Given the description of an element on the screen output the (x, y) to click on. 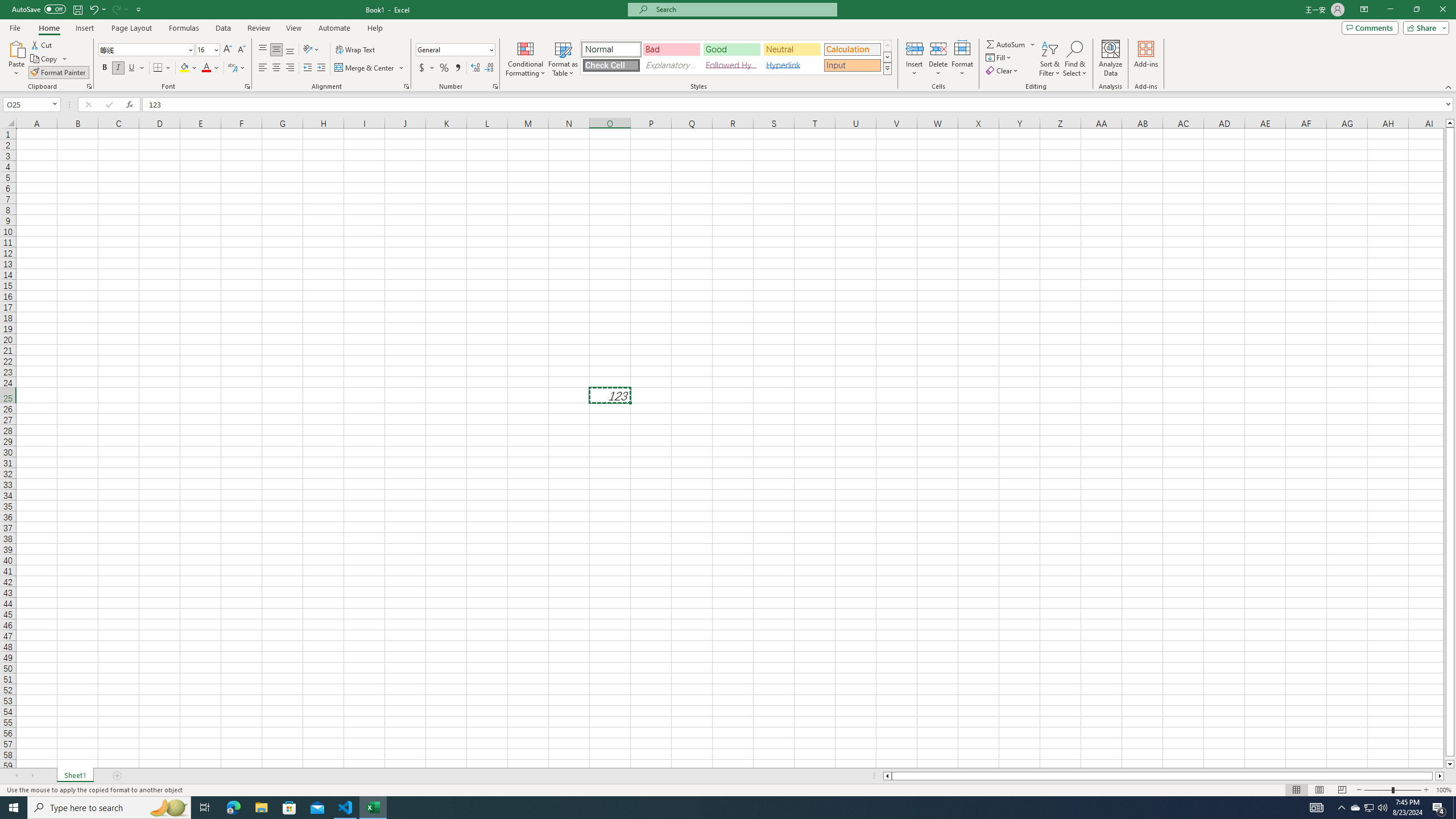
Increase Indent (320, 67)
Scroll Left (16, 775)
Show Phonetic Field (231, 67)
Font Size (207, 49)
Font (142, 49)
Copy (45, 58)
Page right (1433, 775)
AutomationID: CellStylesGallery (736, 57)
Format Painter (58, 72)
Open (54, 104)
Formulas (184, 28)
Show Phonetic Field (236, 67)
Minimize (1390, 9)
Bold (104, 67)
Bottom Border (157, 67)
